Given the description of an element on the screen output the (x, y) to click on. 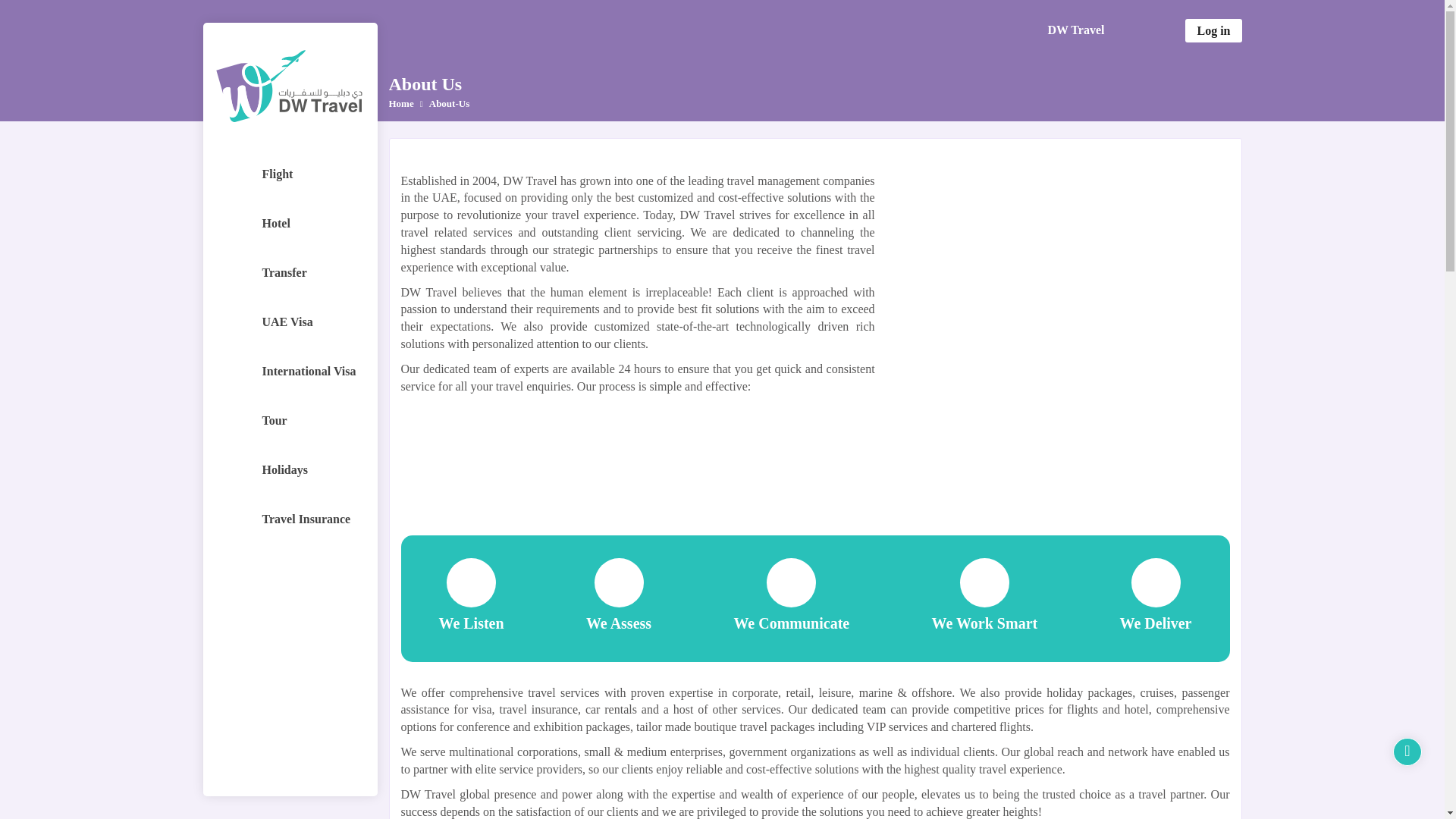
International Visa (289, 371)
Holidays (289, 469)
Hotel (289, 223)
Transfer (289, 272)
Flight (289, 174)
Log in (1213, 29)
Tour (289, 420)
DW Travel (1082, 30)
Travel Insurance (289, 519)
UAE Visa (289, 322)
